Given the description of an element on the screen output the (x, y) to click on. 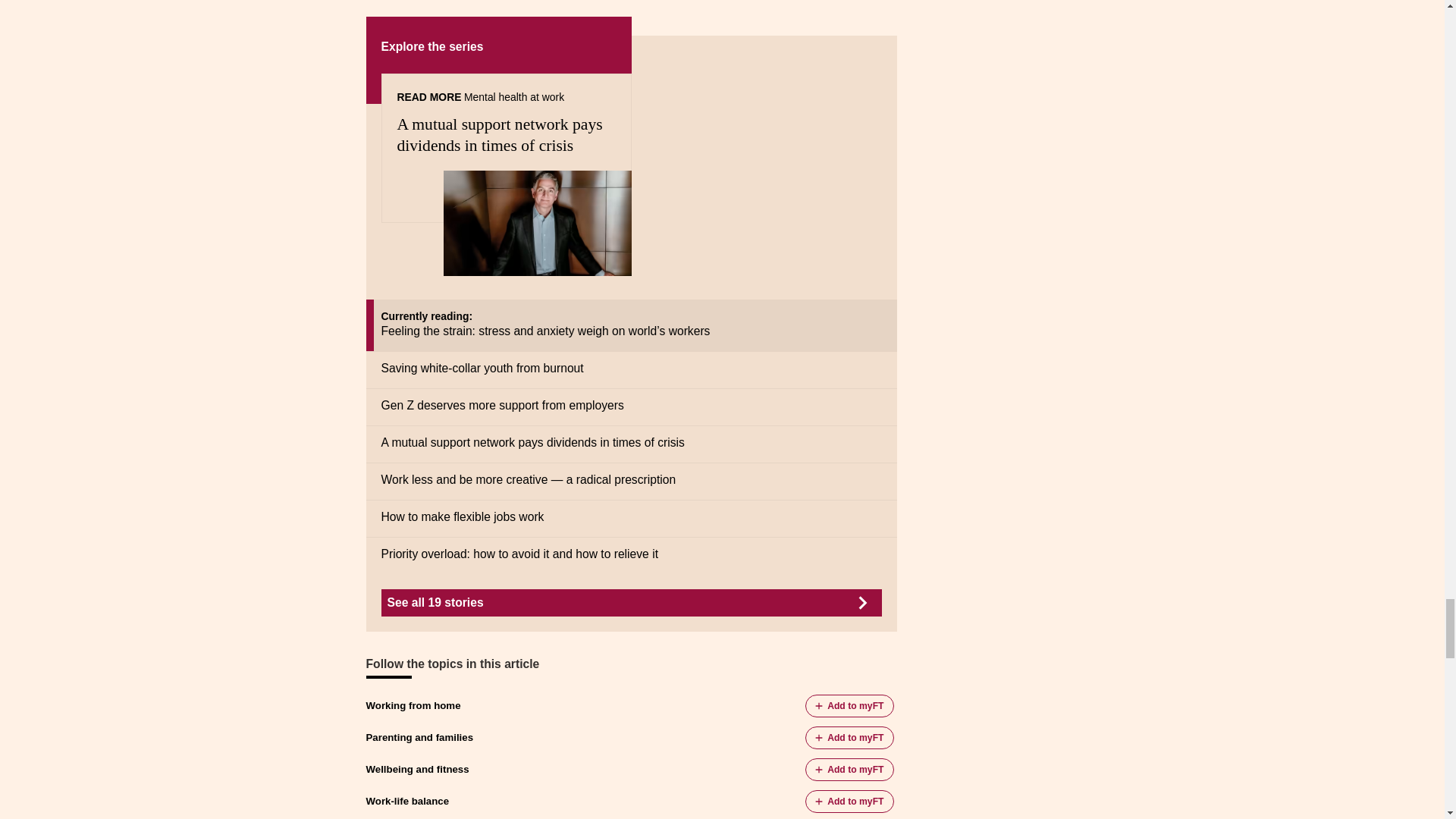
Add Working from home to myFT (849, 705)
Add Work-life balance to myFT (849, 801)
Add Parenting and families to myFT (849, 737)
Add Wellbeing and fitness to myFT (849, 769)
